Given the description of an element on the screen output the (x, y) to click on. 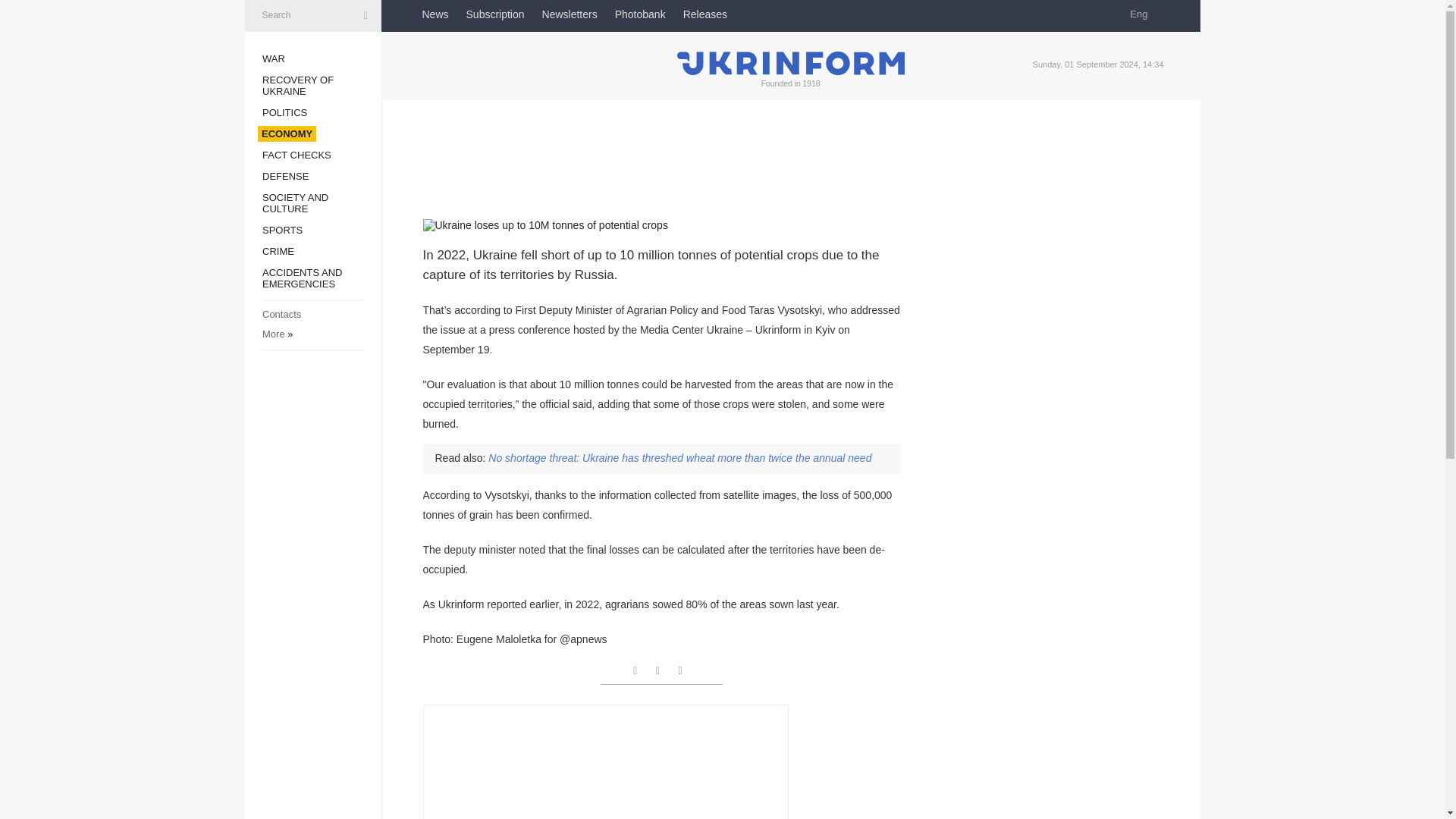
Newsletters (568, 14)
SOCIETY AND CULTURE (295, 202)
Subscription (494, 14)
DEFENSE (285, 175)
ACCIDENTS AND EMERGENCIES (302, 277)
Releases (704, 14)
FACT CHECKS (296, 154)
WAR (273, 58)
CRIME (278, 251)
ECONOMY (286, 133)
